Given the description of an element on the screen output the (x, y) to click on. 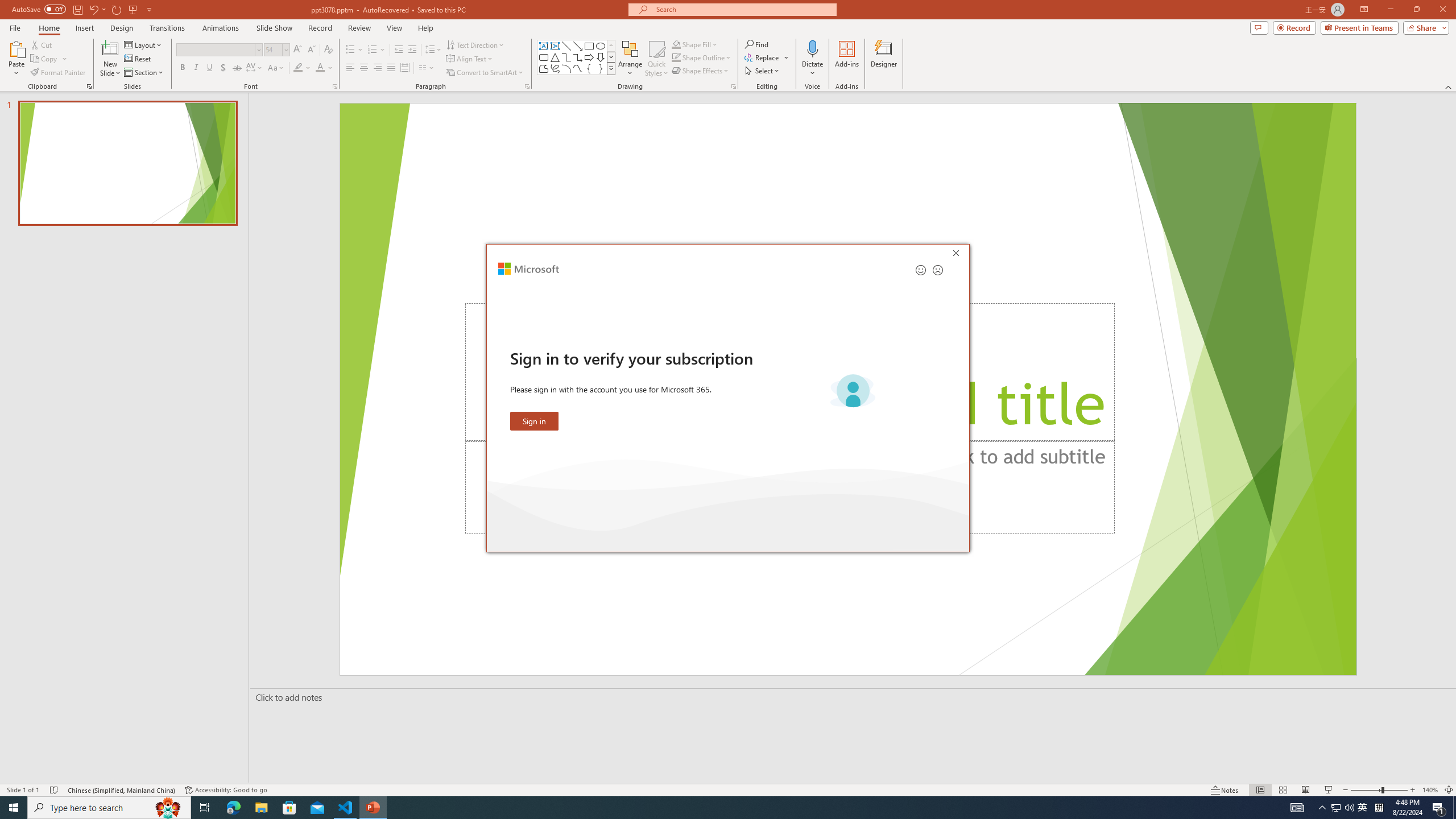
Accessibility Checker Accessibility: Good to go (226, 790)
